Given the description of an element on the screen output the (x, y) to click on. 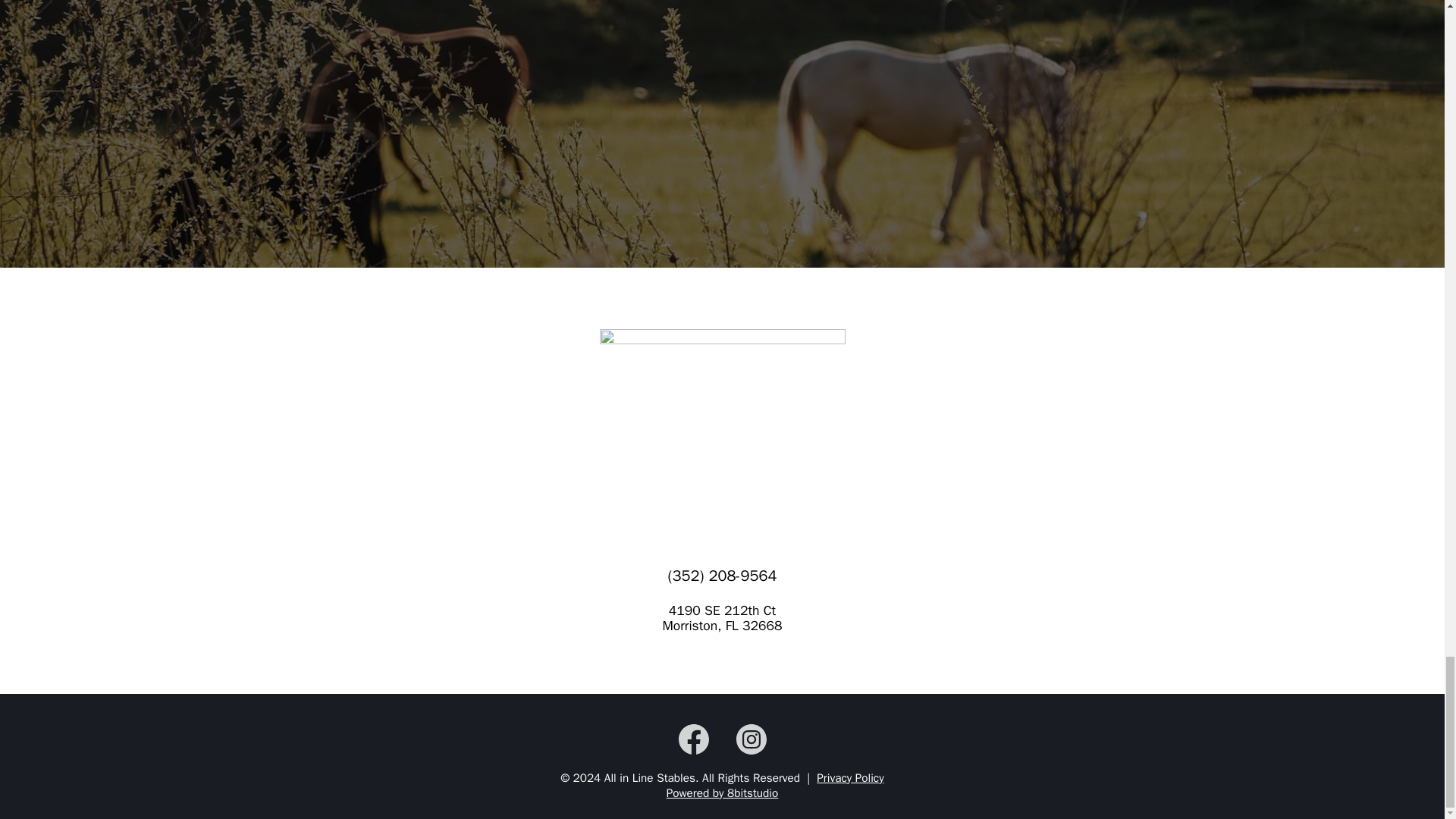
Instagram (750, 737)
Powered by 8bitstudio (722, 792)
Facebook (692, 737)
Privacy Policy (849, 777)
